Given the description of an element on the screen output the (x, y) to click on. 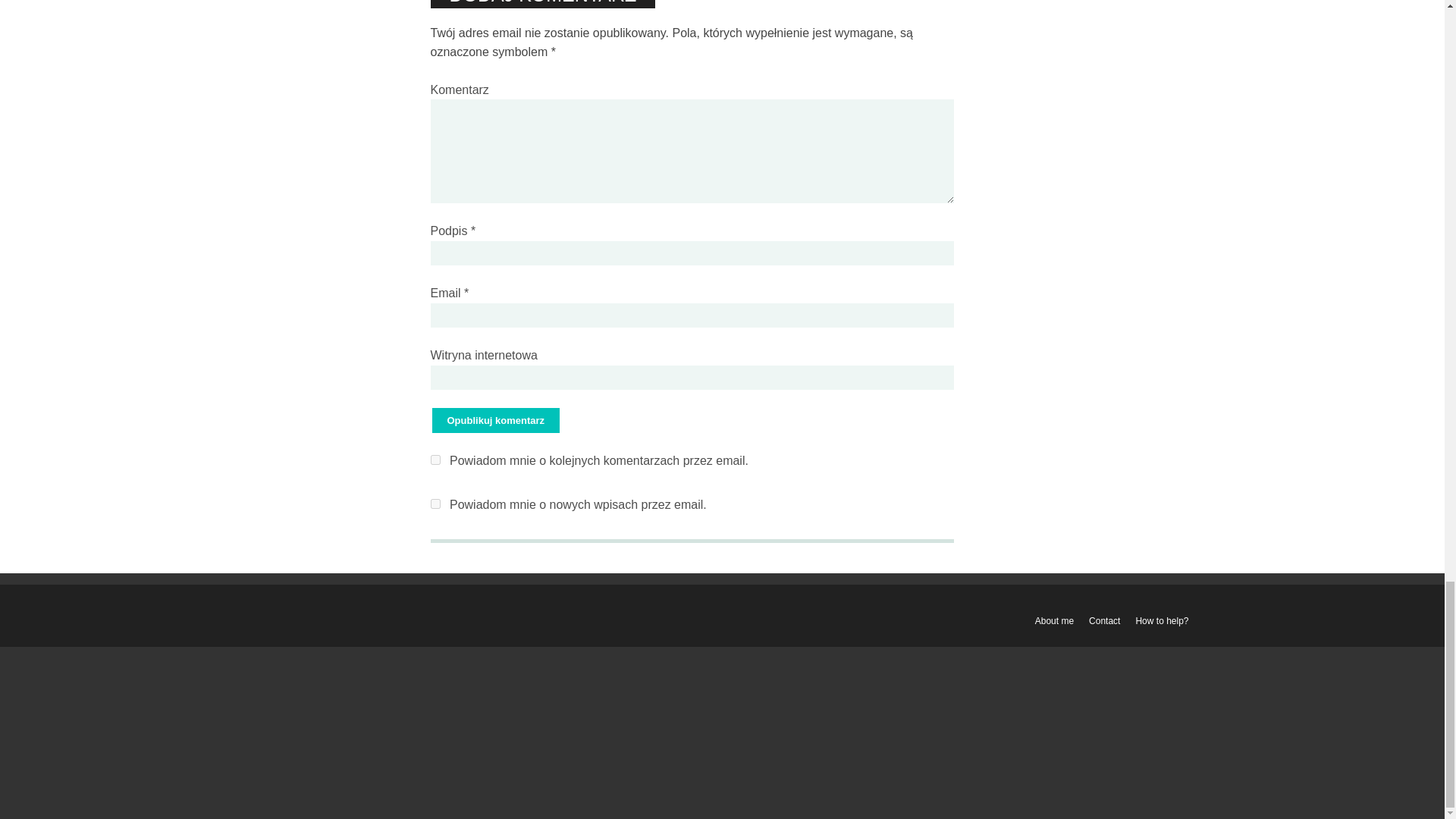
subscribe (435, 460)
Opublikuj komentarz (496, 420)
About me (1054, 620)
subscribe (435, 503)
Opublikuj komentarz (496, 420)
